Given the description of an element on the screen output the (x, y) to click on. 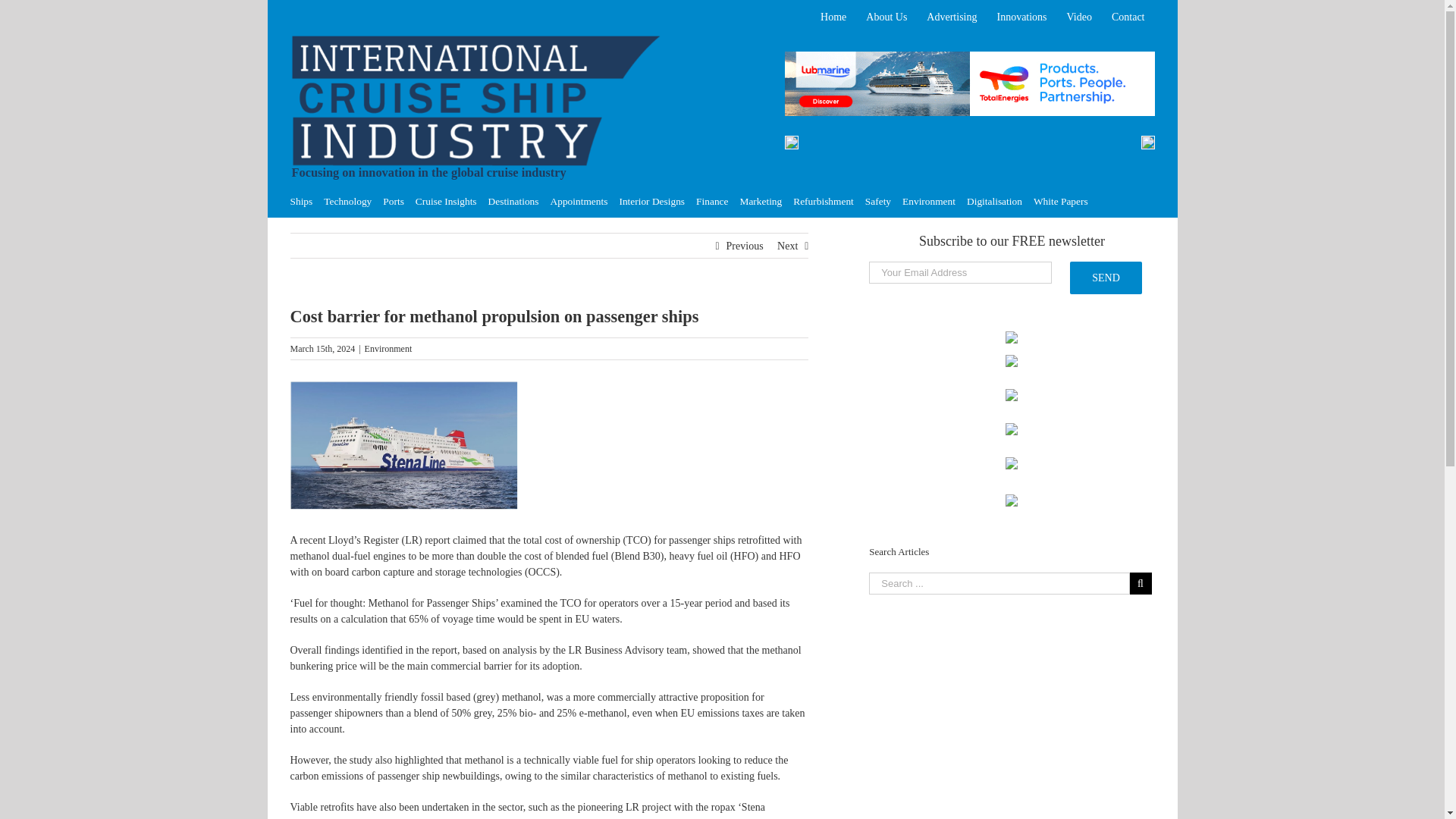
Advertising (952, 16)
Digitalisation (994, 201)
Refurbishment (823, 201)
Home (833, 16)
Innovations (1022, 16)
White Papers (1060, 201)
Cruise Insights (445, 201)
Send (1105, 277)
Environment (388, 348)
Technology (347, 201)
